Given the description of an element on the screen output the (x, y) to click on. 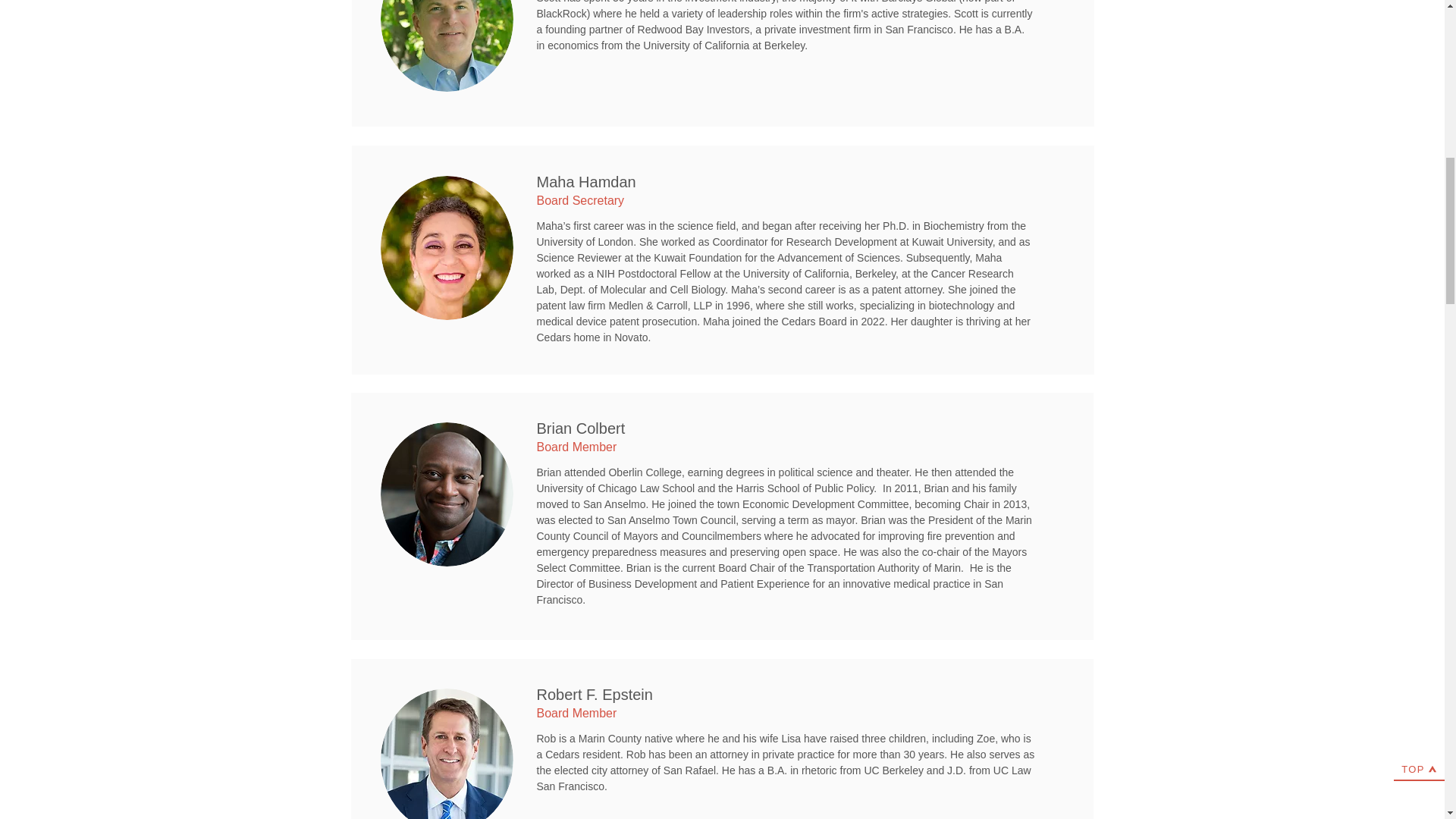
guy2.jpg (446, 248)
guy2.jpg (446, 753)
guy2.jpg (446, 494)
guy2.jpg (446, 45)
